Given the description of an element on the screen output the (x, y) to click on. 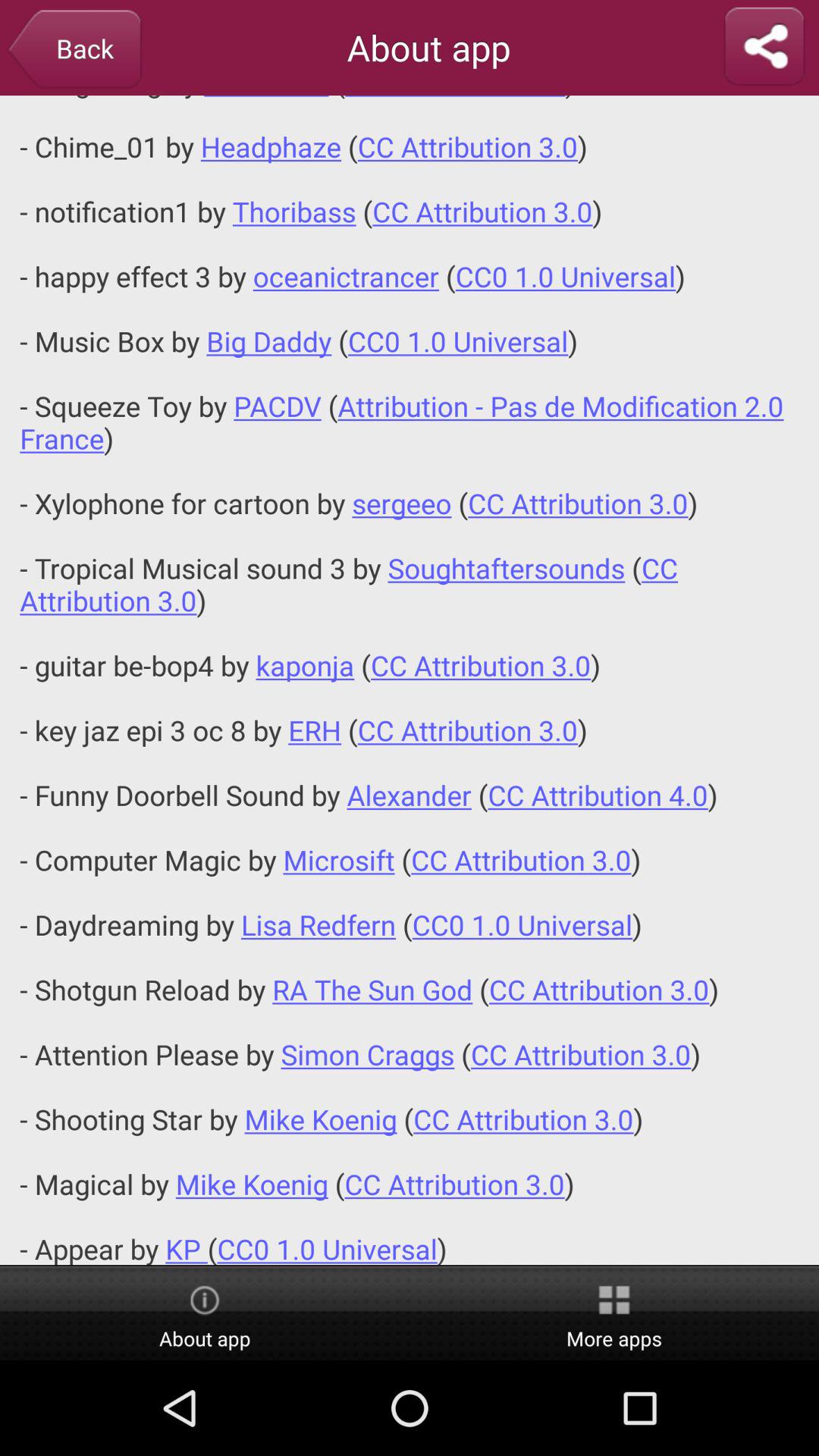
share button (764, 47)
